Given the description of an element on the screen output the (x, y) to click on. 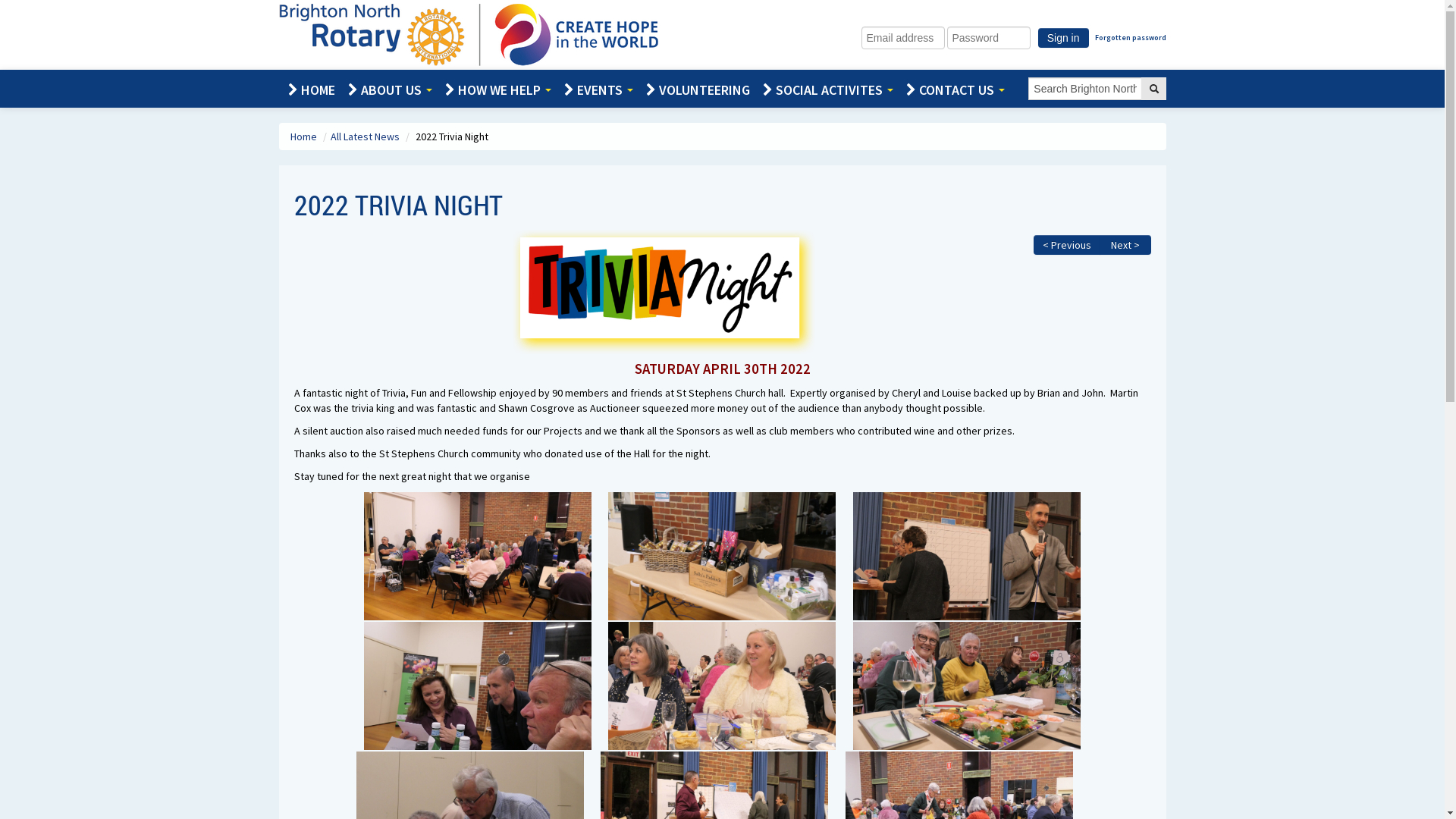
All Latest News Element type: text (365, 136)
Sign in Element type: text (1063, 37)
VOLUNTEERING Element type: text (695, 89)
< Previous Element type: text (1065, 244)
Forgotten password Element type: text (1130, 37)
Home Element type: text (303, 136)
2021 Trivia Night Element type: hover (663, 291)
2021 Trivia Night Element type: hover (966, 685)
SOCIAL ACTIVITES Element type: text (825, 89)
2021 Trivia Night Element type: hover (721, 685)
CONTACT US Element type: text (951, 89)
2021 Trivia Night Element type: hover (477, 685)
2021 Trivia Night Element type: hover (721, 556)
ABOUT US Element type: text (386, 89)
2021 Trivia Night Element type: hover (966, 556)
HOME Element type: text (308, 89)
2021 Trivia Night Element type: hover (477, 556)
HOW WE HELP Element type: text (494, 89)
Next > Element type: text (1125, 244)
EVENTS Element type: text (596, 89)
